Given the description of an element on the screen output the (x, y) to click on. 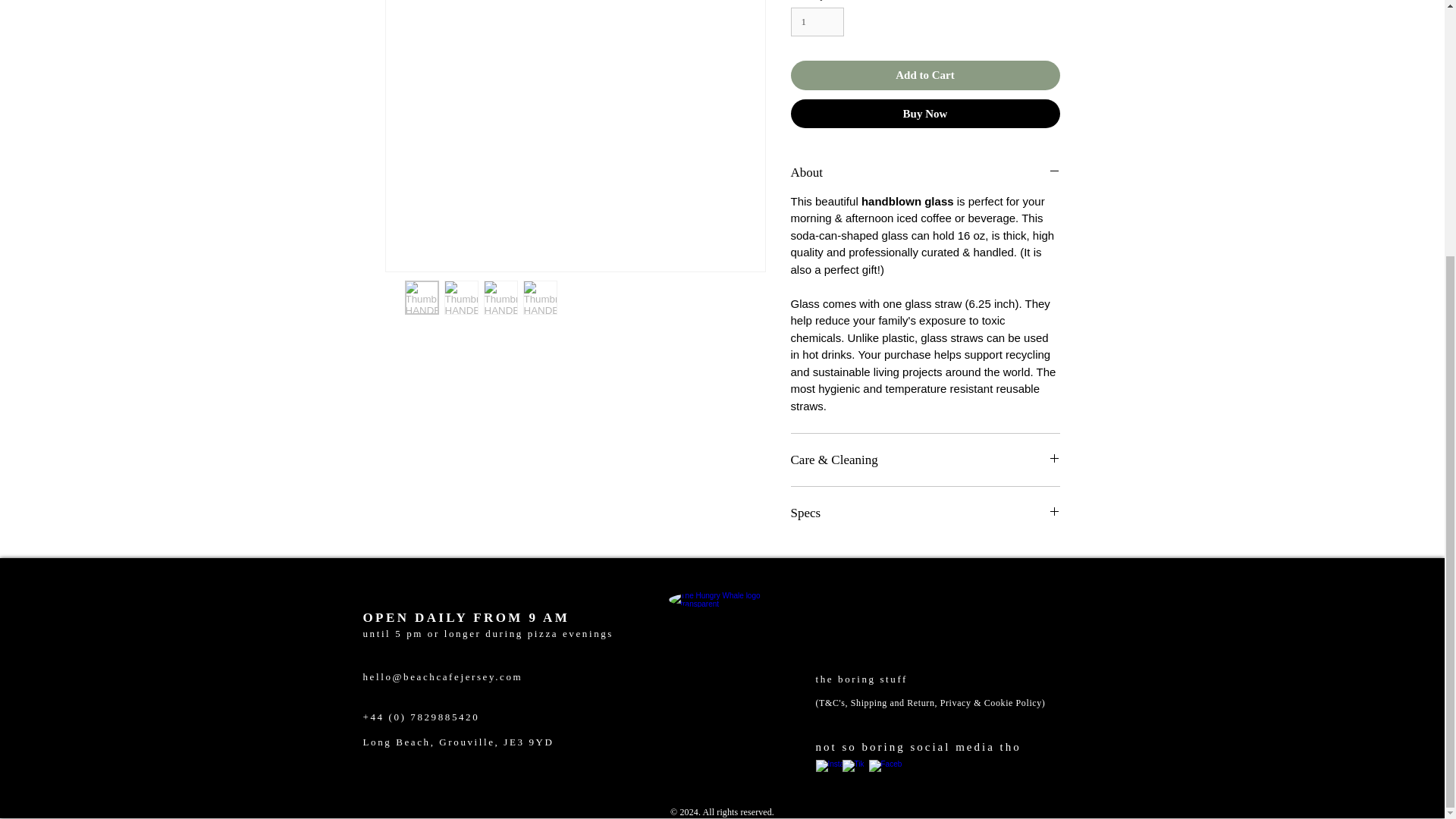
Specs (924, 512)
1 (817, 21)
Add to Cart (924, 75)
About (924, 172)
the boring stuff (861, 678)
Buy Now (924, 113)
